Given the description of an element on the screen output the (x, y) to click on. 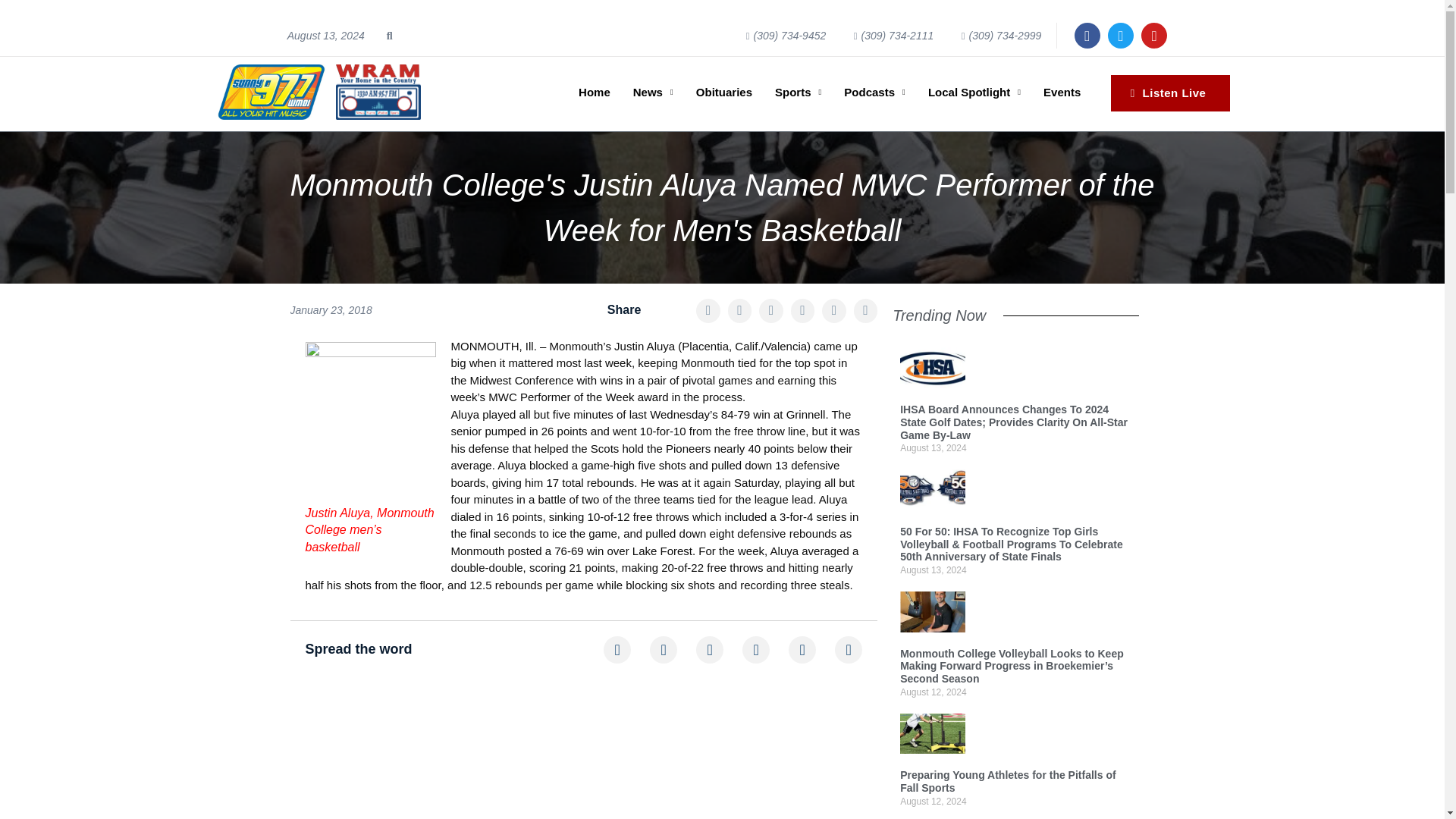
Obituaries (724, 92)
Podcasts (874, 92)
Local Spotlight (974, 92)
Events (1062, 92)
Sports (798, 92)
Home (594, 92)
News (652, 92)
